Given the description of an element on the screen output the (x, y) to click on. 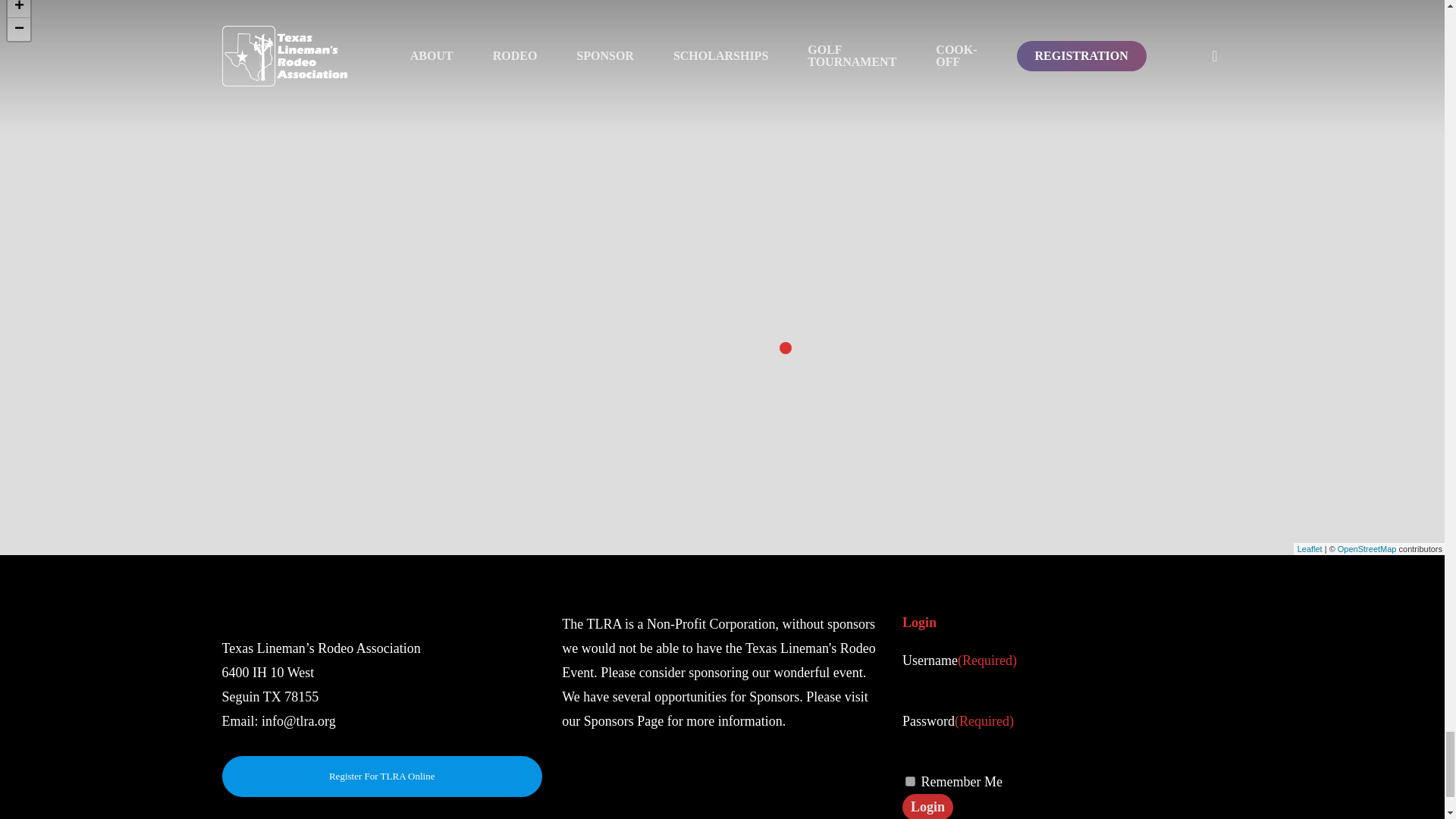
A JS library for interactive maps (1309, 548)
Zoom out (18, 29)
Login (927, 806)
1 (910, 781)
Zoom in (18, 9)
